Given the description of an element on the screen output the (x, y) to click on. 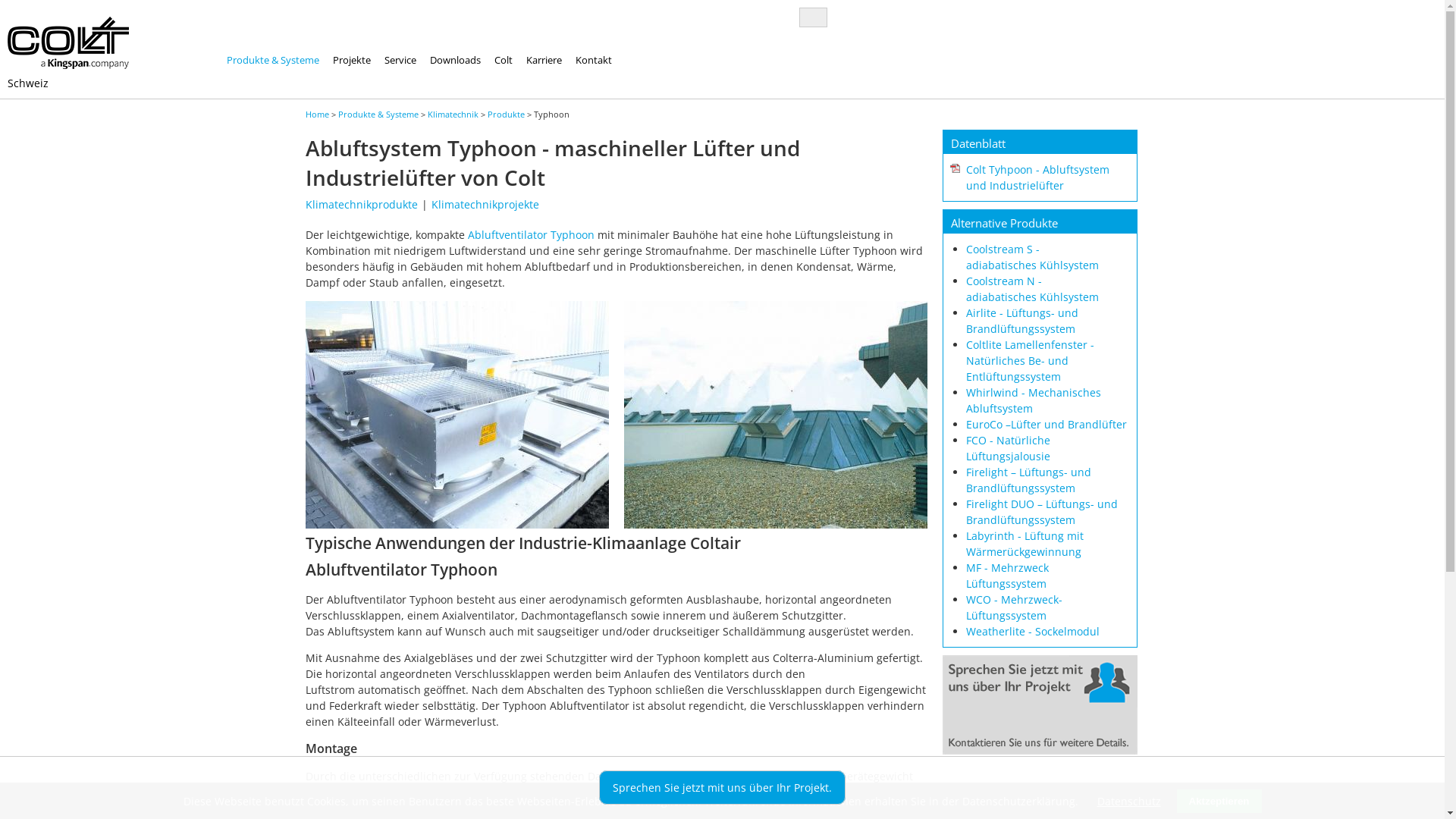
Kontakt Element type: hover (1038, 704)
Klimatechnik Element type: text (452, 113)
Colt International Element type: hover (67, 64)
Downloads Element type: text (455, 59)
Home Element type: text (316, 113)
Datenschutz Element type: text (1128, 800)
Produkte & Systeme Element type: text (378, 113)
Weatherlite - Sockelmodul Element type: text (1032, 631)
Projekte Element type: text (351, 59)
Klimatechnikprodukte Element type: text (360, 204)
Colt International Element type: hover (67, 42)
Abluftsystem Typhoon Element type: hover (456, 524)
Aktzeptieren Element type: text (1218, 800)
Colt Element type: text (503, 59)
Whirlwind - Mechanisches Abluftsystem Element type: text (1033, 400)
Service Element type: text (400, 59)
  Element type: text (729, 39)
Produkte Element type: text (505, 113)
Klimatechnikprojekte Element type: text (484, 204)
Kontakt Element type: text (593, 59)
Suchen Element type: text (29, 9)
Abluftventilator Typhoon Element type: text (530, 234)
Kontakt Element type: hover (1038, 750)
Produkte & Systeme Element type: text (272, 59)
Karriere Element type: text (543, 59)
Abluftsystem Typhoon Element type: hover (456, 414)
